Given the description of an element on the screen output the (x, y) to click on. 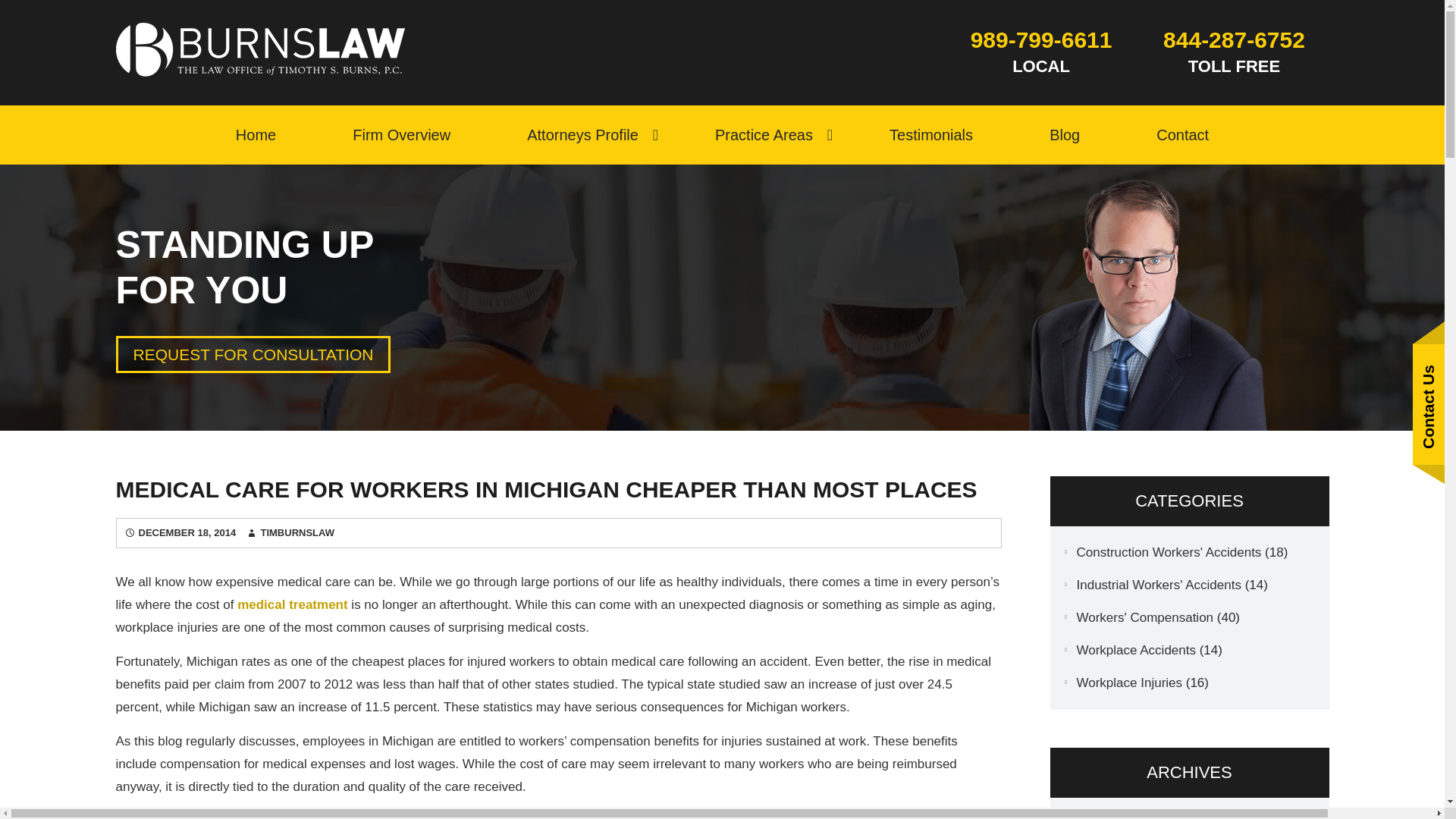
Blog (1064, 134)
Testimonials (930, 134)
989-799-6611 (1040, 39)
Practice Areas (763, 134)
Home (255, 134)
REQUEST FOR CONSULTATION (252, 354)
Attorneys Profile (582, 134)
medical treatment (292, 604)
Firm Overview (400, 134)
